Given the description of an element on the screen output the (x, y) to click on. 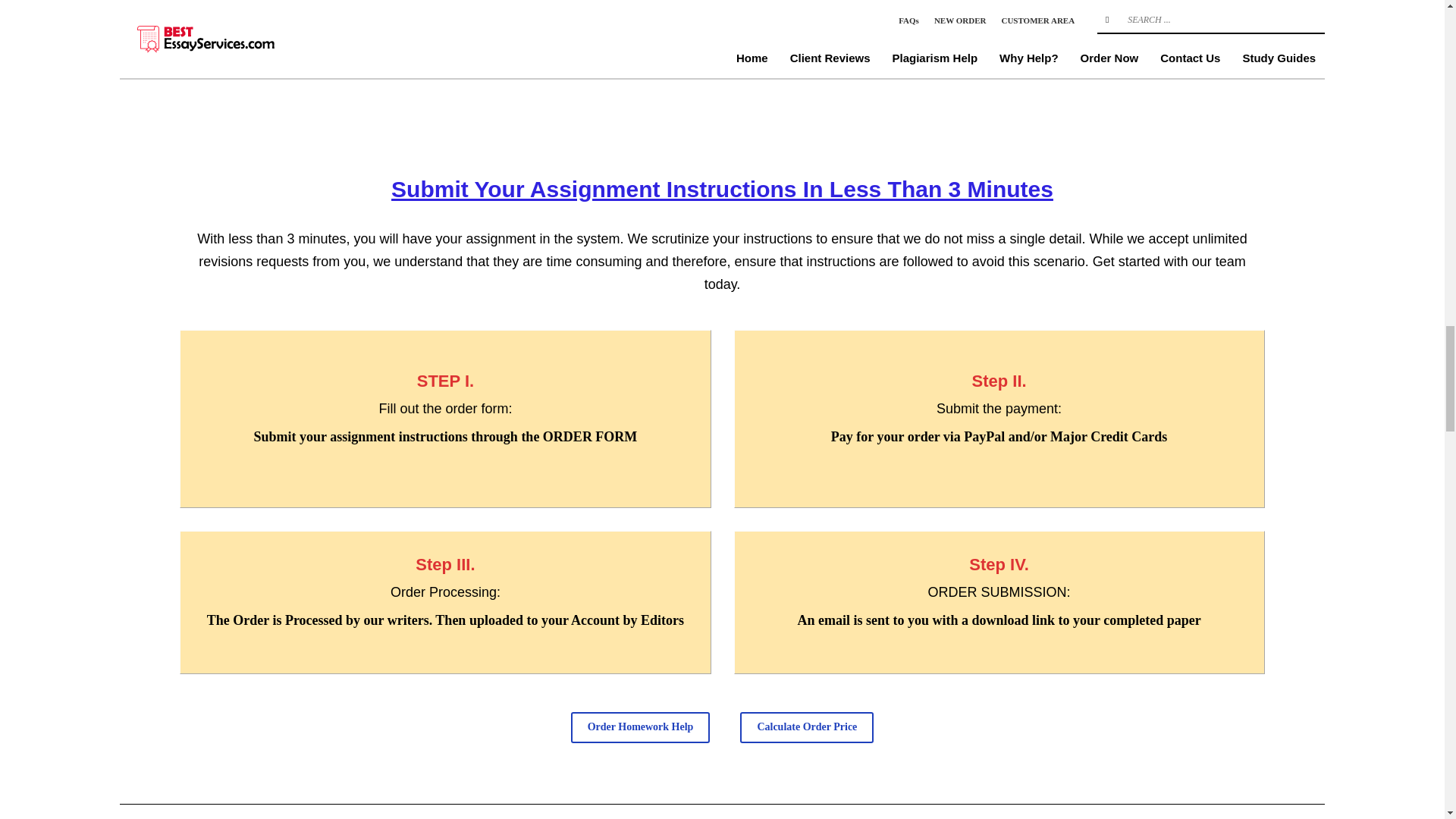
View All Client Reviews (721, 20)
Calculate Order Price (806, 726)
Order Homework Help (640, 726)
